Given the description of an element on the screen output the (x, y) to click on. 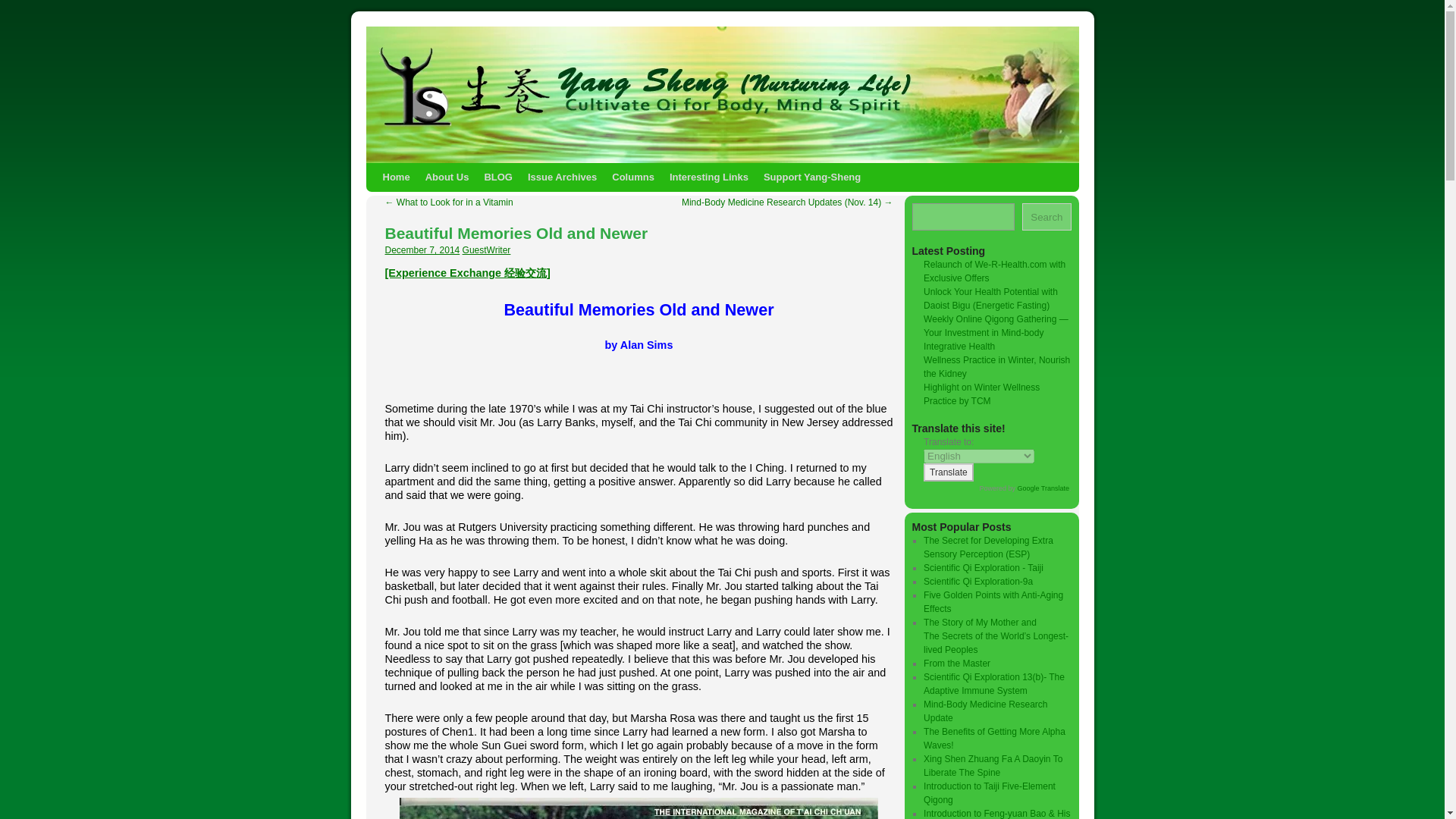
Issue Archives (561, 176)
Home (395, 176)
12:43 am (422, 249)
BLOG (497, 176)
Translate (948, 472)
About Us (447, 176)
View all posts by GuestWriter (487, 249)
